Given the description of an element on the screen output the (x, y) to click on. 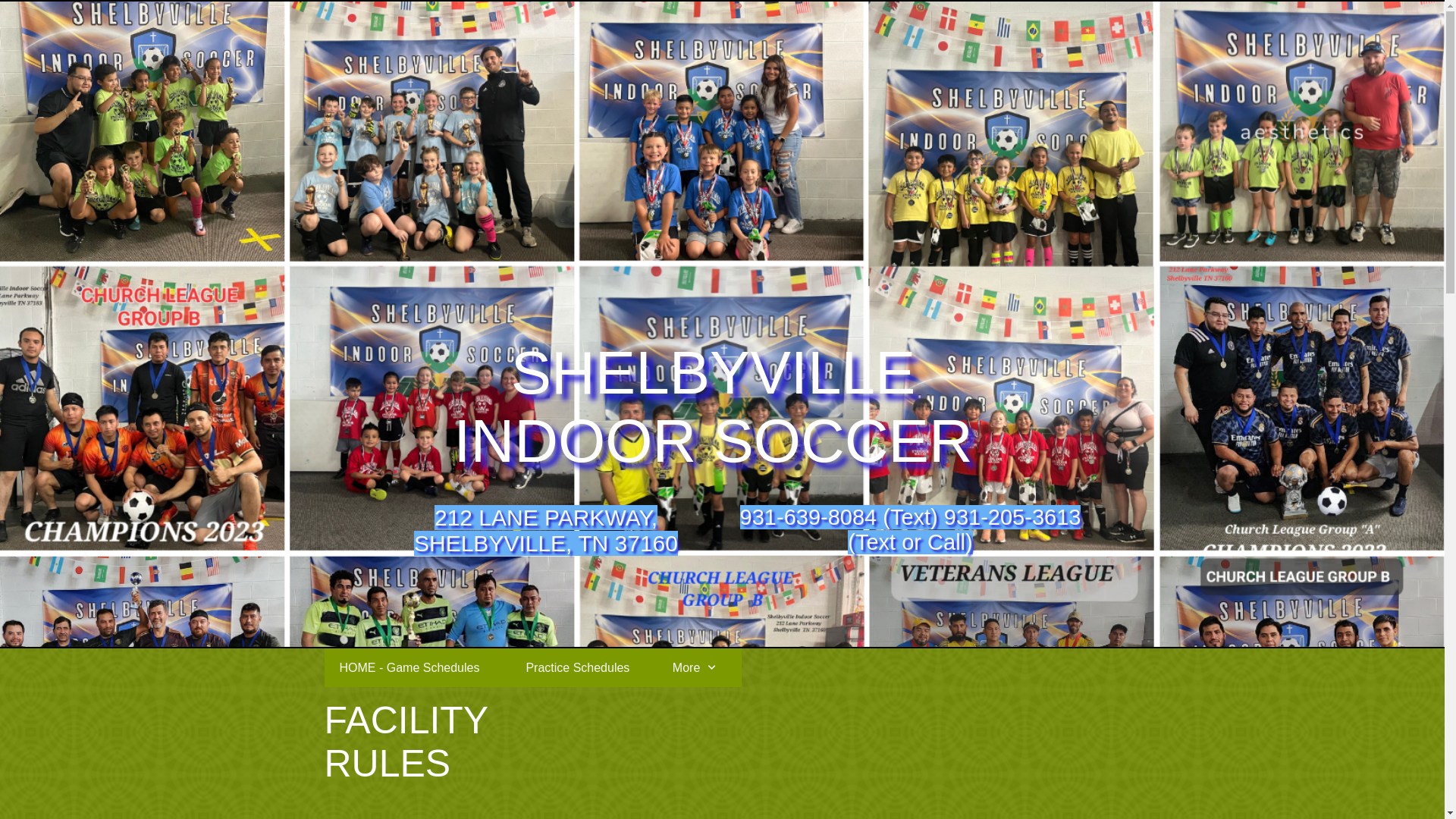
More (699, 667)
HOME - Game Schedules (417, 667)
Practice Schedules (583, 667)
